Given the description of an element on the screen output the (x, y) to click on. 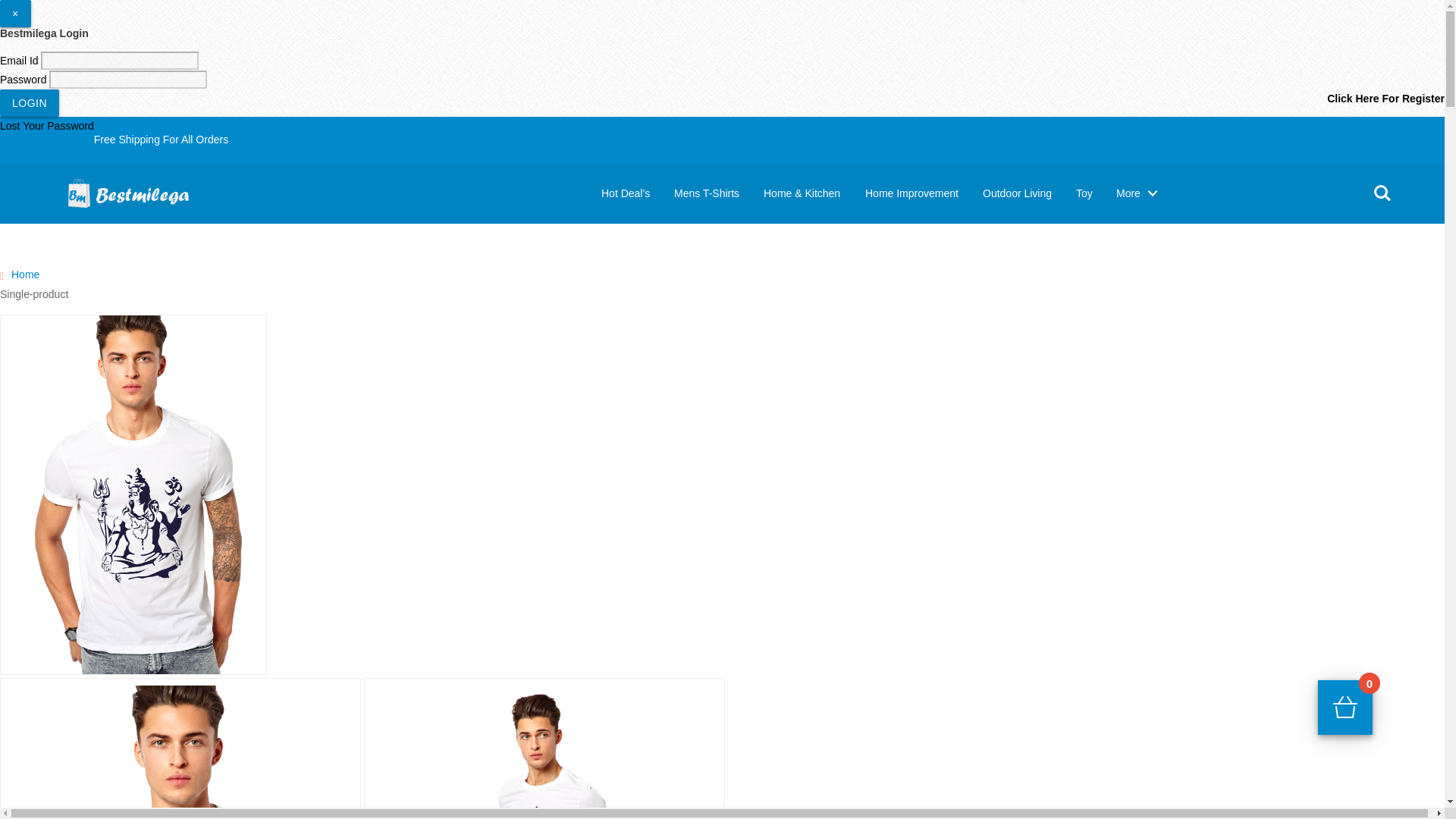
Outdoor Living (1017, 192)
signup (1417, 177)
Mens T-Shirts (706, 192)
Click Here For Register (1385, 98)
Outdoor Living (1017, 192)
Lost Your Password (47, 125)
Coustomer Care (1315, 177)
Go to Home Page (25, 274)
Hot Deal's (626, 192)
Hot Deal's (626, 192)
Home Improvement (911, 192)
LOGIN (29, 103)
Bestmilega (141, 190)
Toy (1084, 192)
Home Improvement (911, 192)
